Given the description of an element on the screen output the (x, y) to click on. 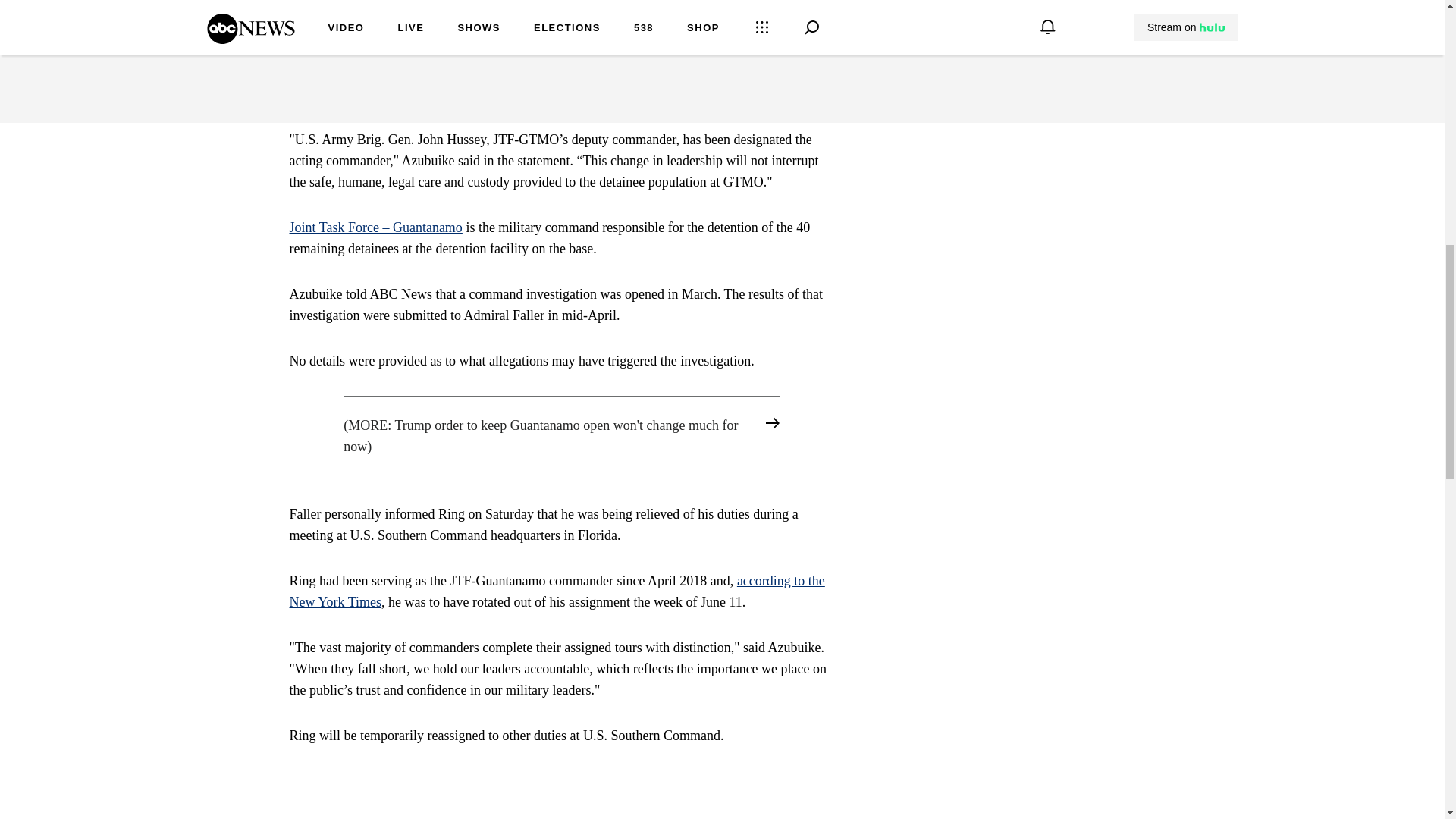
according to the New York Times (557, 591)
